Given the description of an element on the screen output the (x, y) to click on. 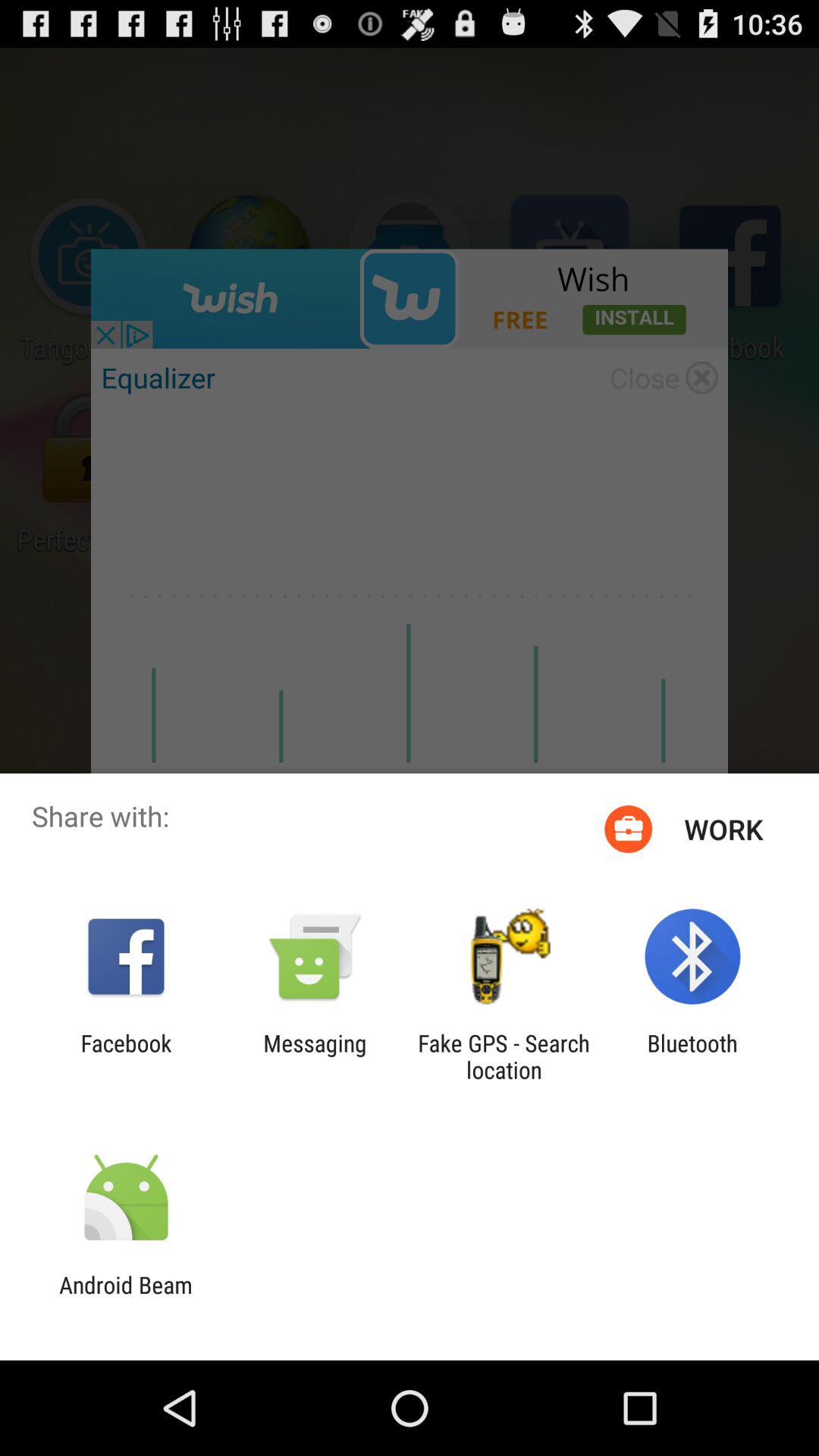
select icon next to fake gps search app (692, 1056)
